Given the description of an element on the screen output the (x, y) to click on. 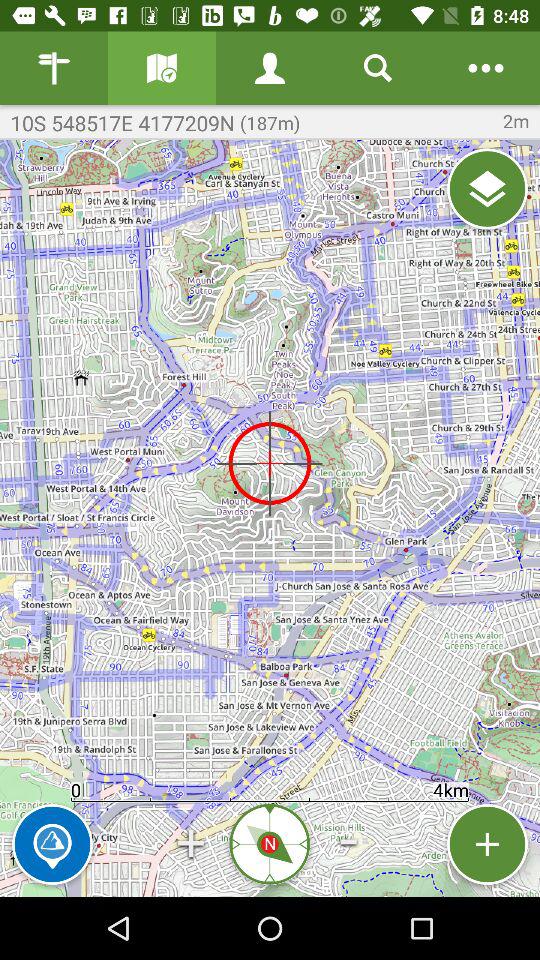
first person view (270, 68)
